Given the description of an element on the screen output the (x, y) to click on. 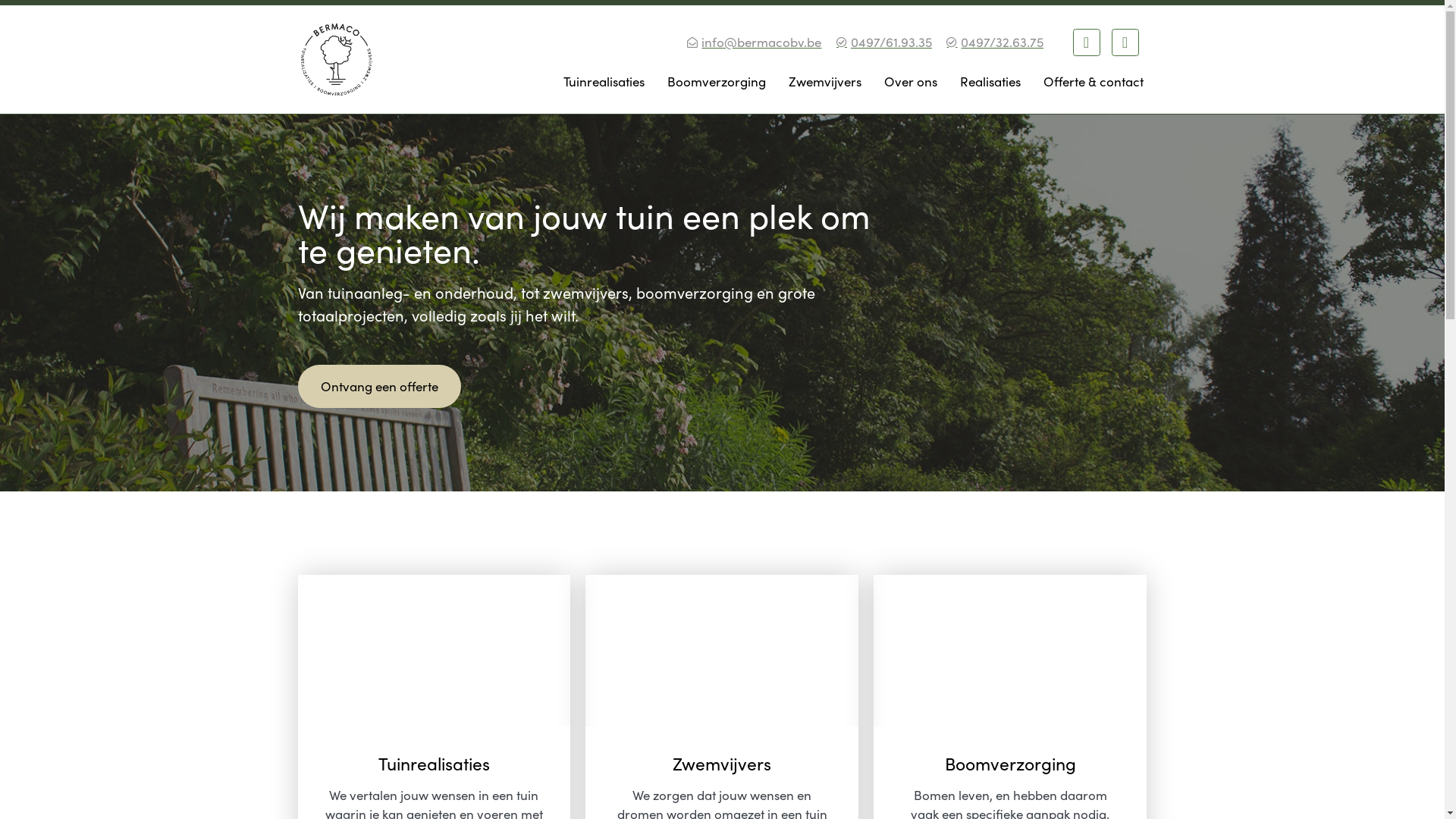
Realisaties Element type: text (989, 80)
Ontvang een offerte Element type: text (378, 385)
Over ons Element type: text (909, 80)
Boomverzorging Element type: text (715, 80)
Zwemvijvers Element type: text (824, 80)
0497/61.93.35 Element type: text (882, 42)
Offerte & contact Element type: text (1092, 80)
0497/32.63.75 Element type: text (994, 42)
Tuinrealisaties Element type: text (603, 80)
info@bermacobv.be Element type: text (753, 42)
